Given the description of an element on the screen output the (x, y) to click on. 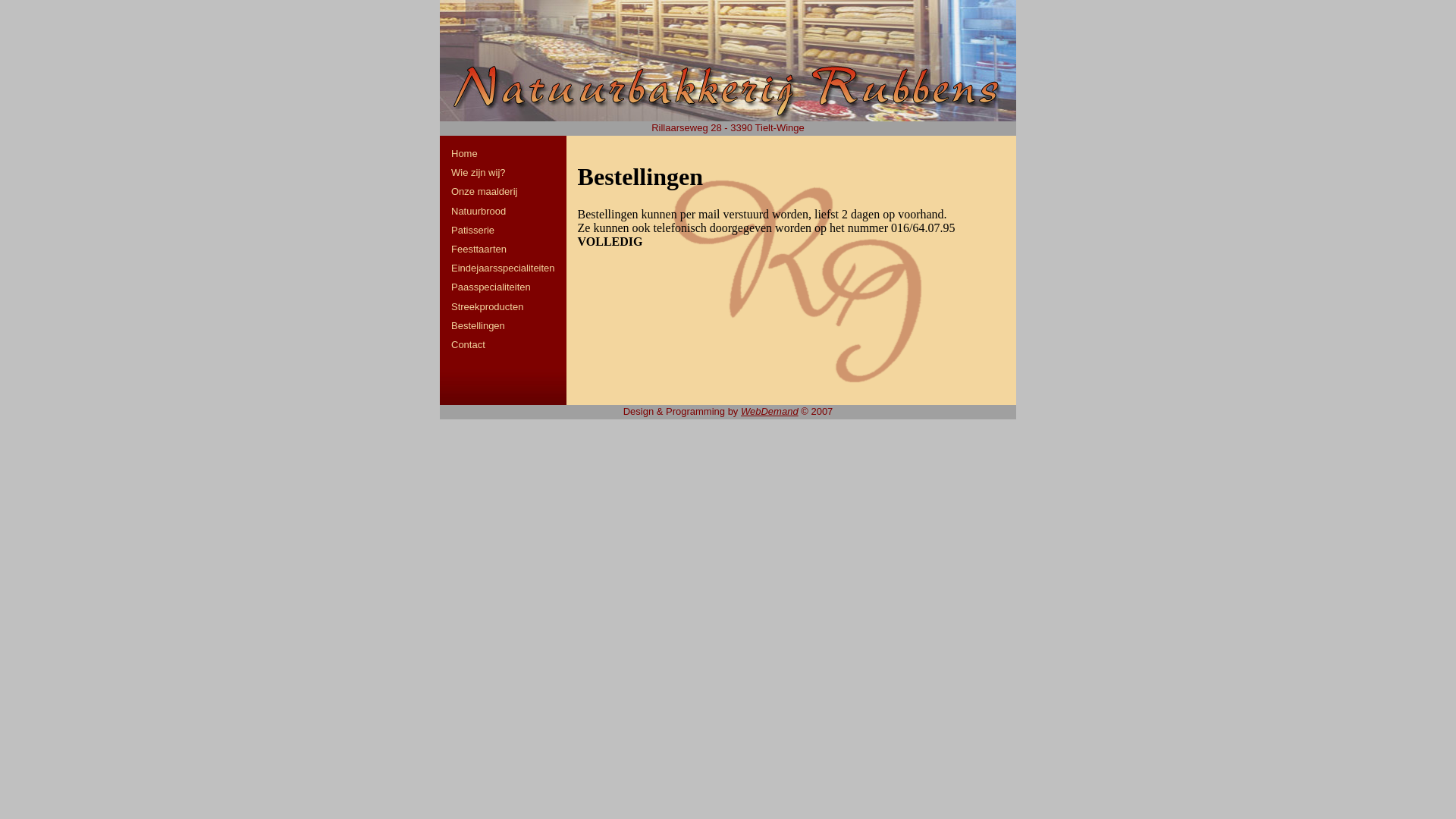
Feesttaarten Element type: text (478, 248)
Onze maalderij Element type: text (484, 191)
Paasspecialiteiten Element type: text (490, 286)
Home Element type: hover (727, 60)
Streekproducten Element type: text (487, 305)
Wie zijn wij? Element type: text (478, 172)
WebDemand Element type: text (769, 411)
Bestellingen Element type: text (478, 325)
Contact Element type: text (468, 344)
Patisserie Element type: text (472, 229)
Home Element type: text (464, 153)
Natuurbrood Element type: text (478, 210)
Eindejaarsspecialiteiten Element type: text (503, 267)
